Given the description of an element on the screen output the (x, y) to click on. 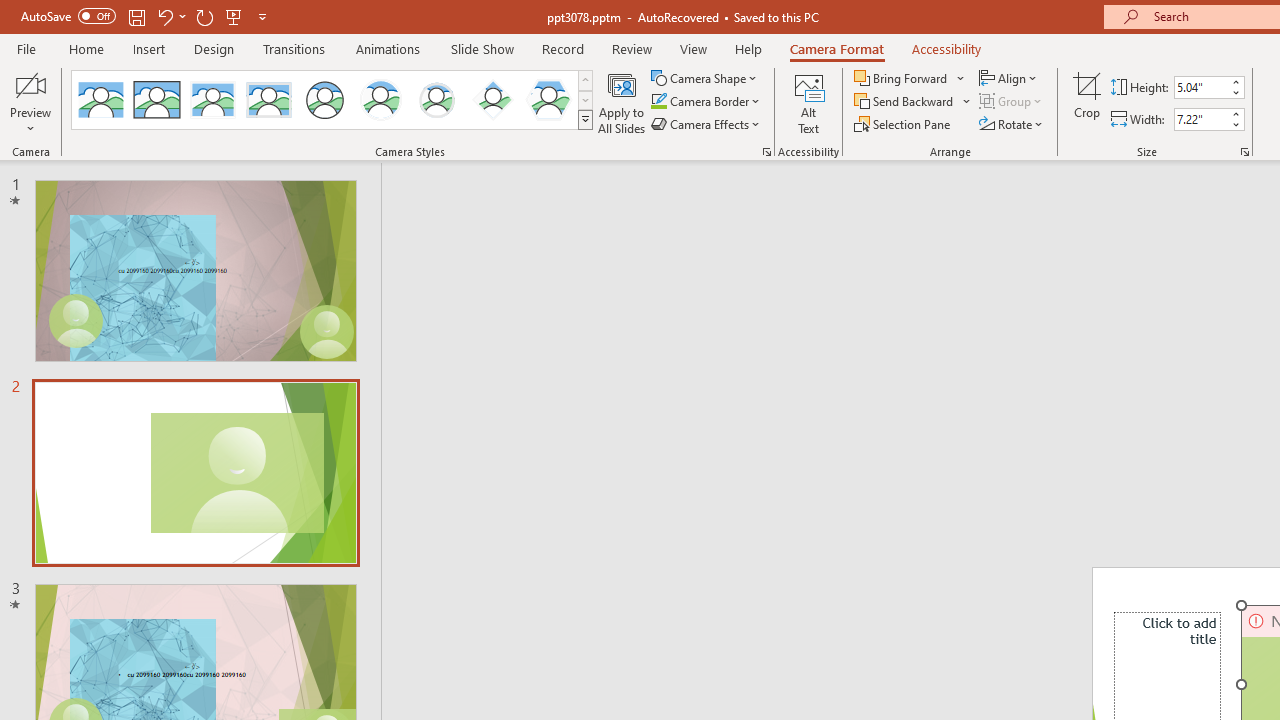
Cameo Width (1201, 119)
Simple Frame Rectangle (157, 100)
Center Shadow Circle (381, 100)
Alt Text (808, 102)
Simple Frame Circle (324, 100)
Align (1009, 78)
Soft Edge Rectangle (268, 100)
Camera Effects (706, 124)
